Given the description of an element on the screen output the (x, y) to click on. 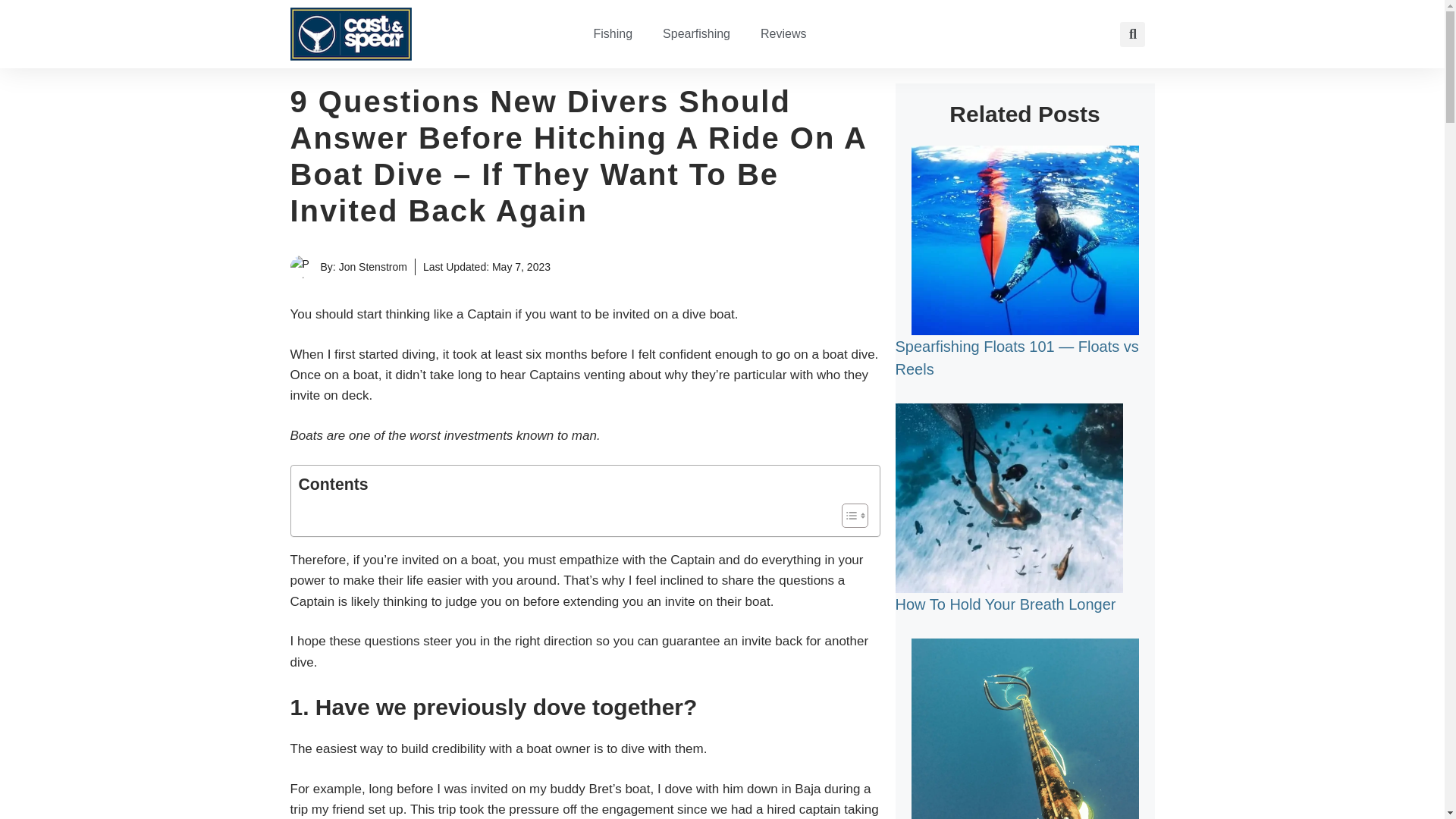
Jon Stenstrom (373, 266)
Reviews (783, 33)
Fishing (612, 33)
Spearfishing (696, 33)
